Given the description of an element on the screen output the (x, y) to click on. 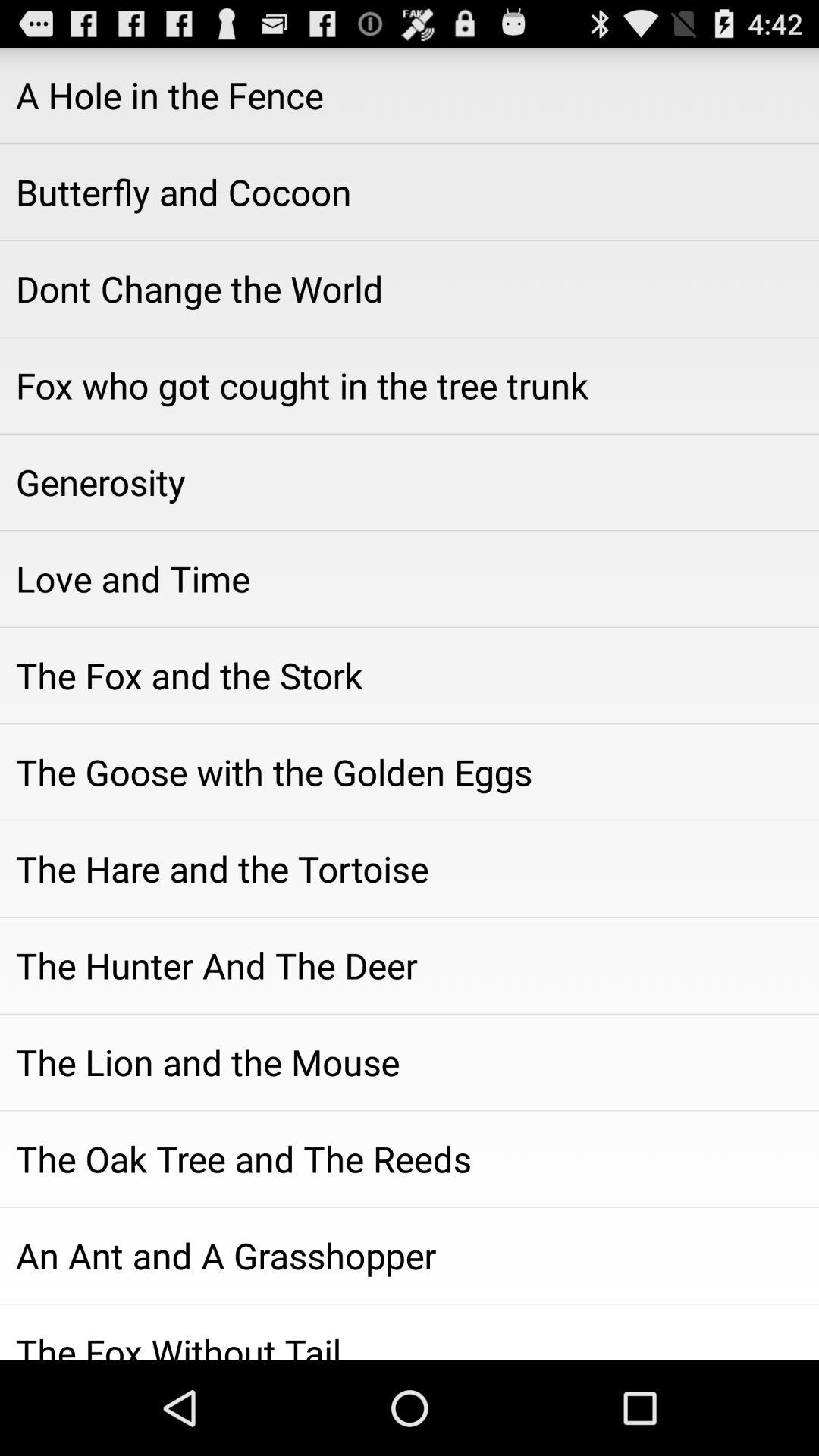
jump to butterfly and cocoon icon (409, 192)
